Given the description of an element on the screen output the (x, y) to click on. 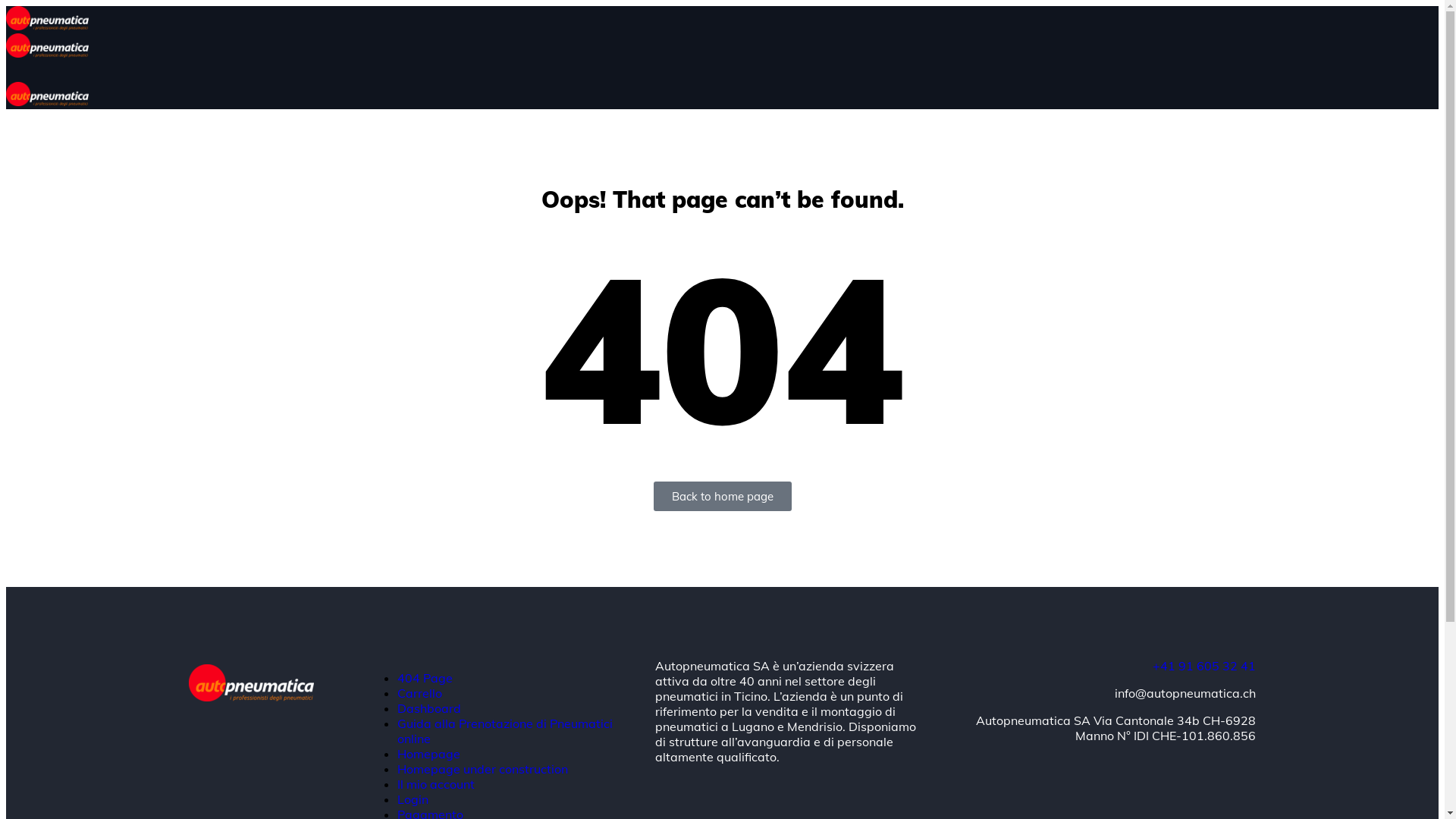
404 Page Element type: text (424, 677)
Autopneumatica Element type: hover (47, 101)
Autopneumatica Element type: hover (250, 696)
Homepage under construction Element type: text (482, 768)
info@autopneumatica.ch Element type: text (1184, 692)
Il mio account Element type: text (435, 783)
Homepage Element type: text (428, 753)
+41 91 605 32 41 Element type: text (1203, 665)
Autopneumatica Element type: hover (47, 52)
Guida alla Prenotazione di Pneumatici online Element type: text (504, 730)
Dashboard Element type: text (429, 707)
Login Element type: text (412, 798)
Carrello Element type: text (419, 692)
Back to home page Element type: text (722, 496)
Autopneumatica Element type: hover (47, 25)
